Given the description of an element on the screen output the (x, y) to click on. 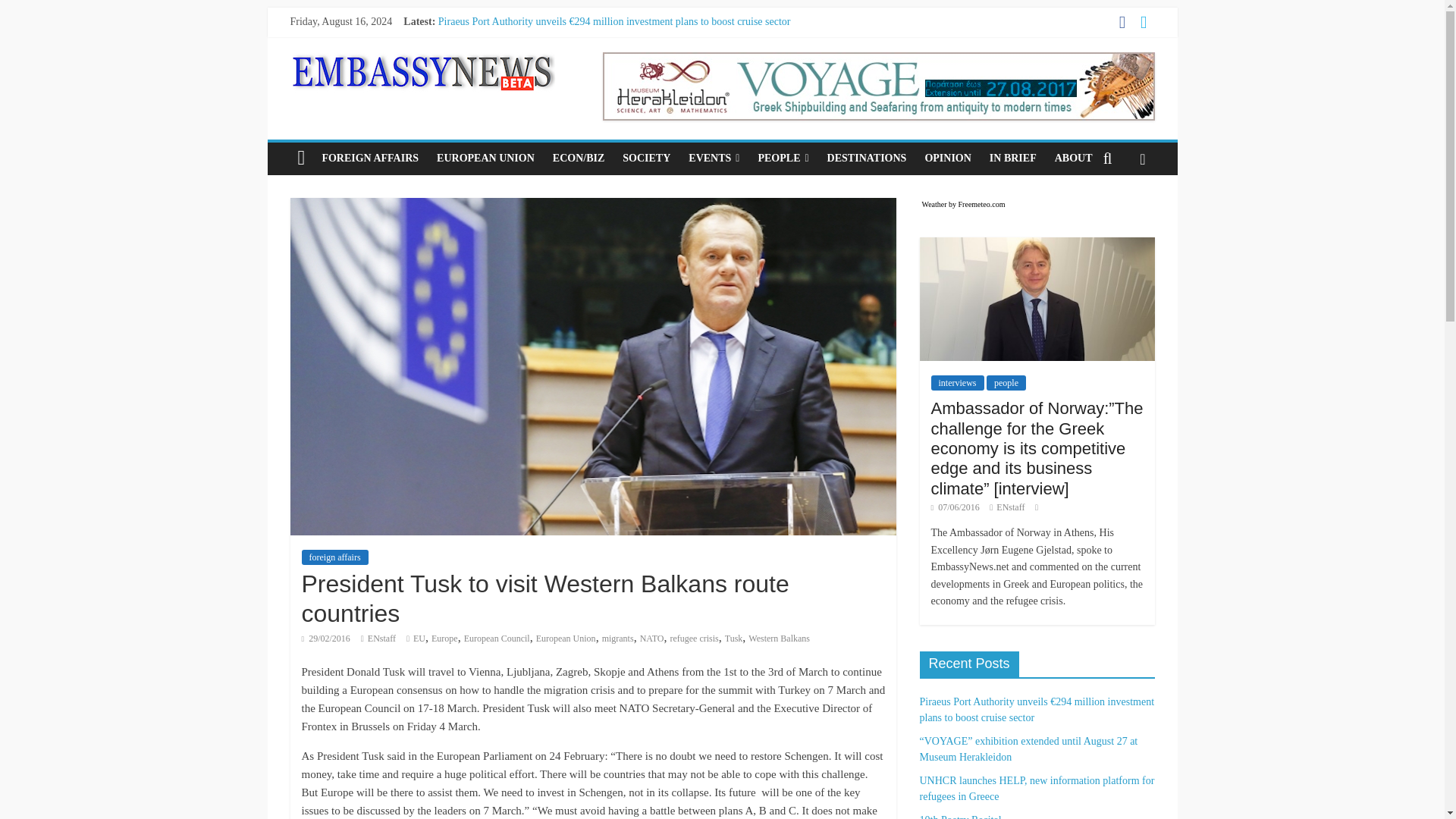
migrants (617, 638)
Europe (444, 638)
NATO (651, 638)
PEOPLE (782, 158)
Tusk (733, 638)
11:16 pm (325, 638)
foreign affairs (334, 557)
EUROPEAN UNION (485, 158)
ENstaff (382, 638)
